Given the description of an element on the screen output the (x, y) to click on. 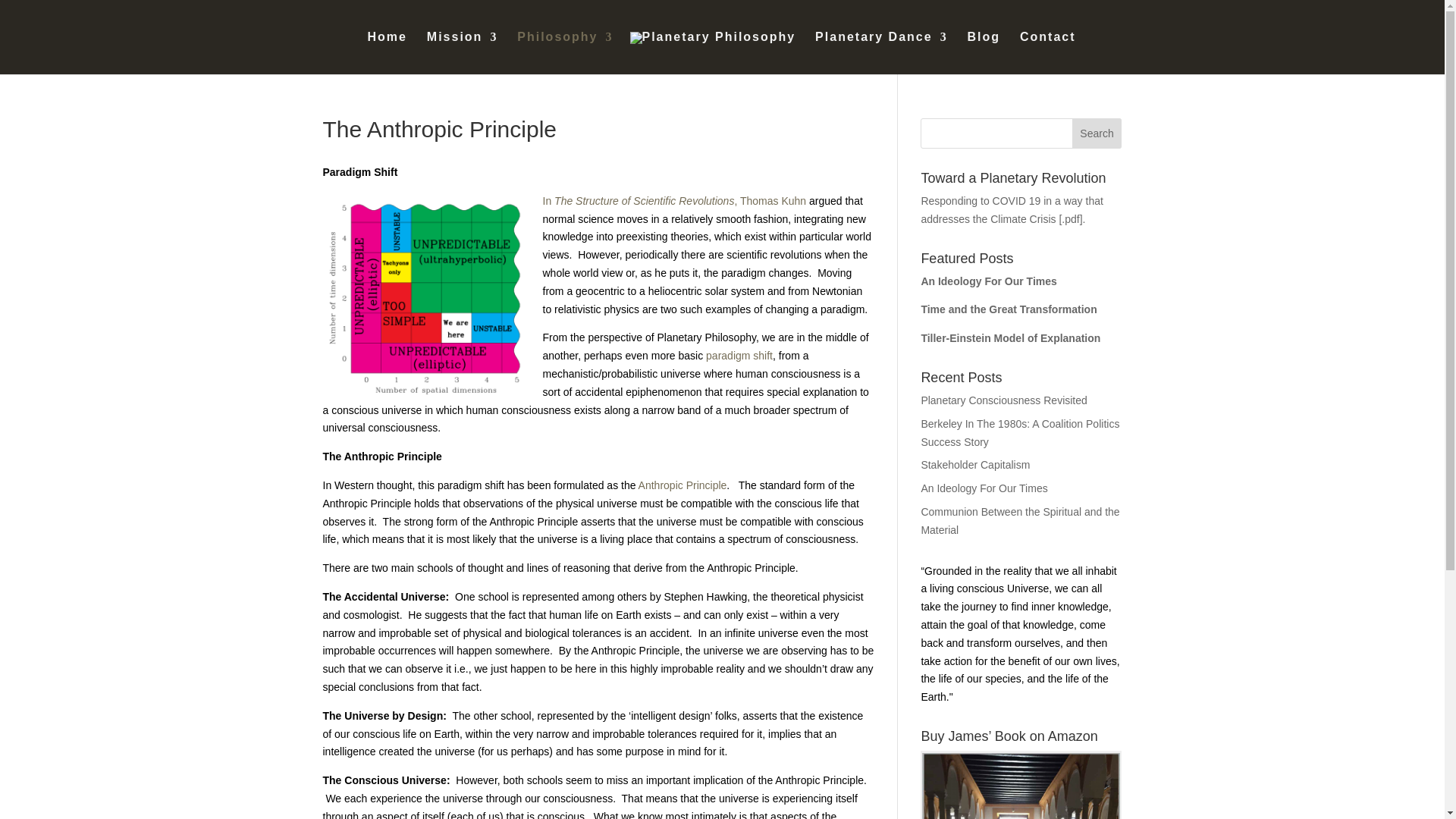
Contact (1047, 52)
Search (1096, 132)
Planetary Dance (881, 52)
Philosophy (564, 52)
Home (386, 52)
Mission (461, 52)
